Given the description of an element on the screen output the (x, y) to click on. 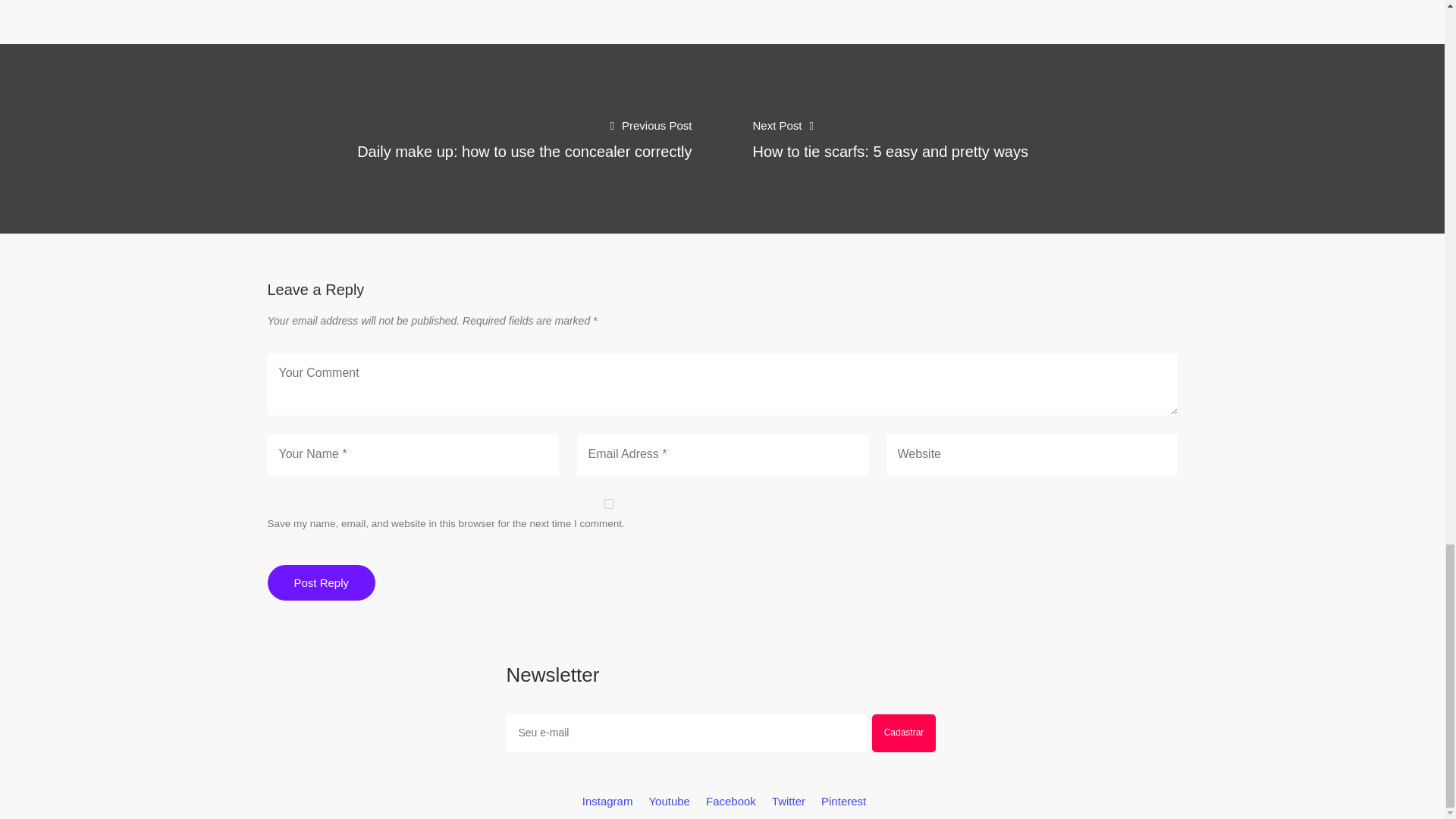
Cadastrar (904, 733)
Post Reply (320, 582)
yes (607, 503)
